Given the description of an element on the screen output the (x, y) to click on. 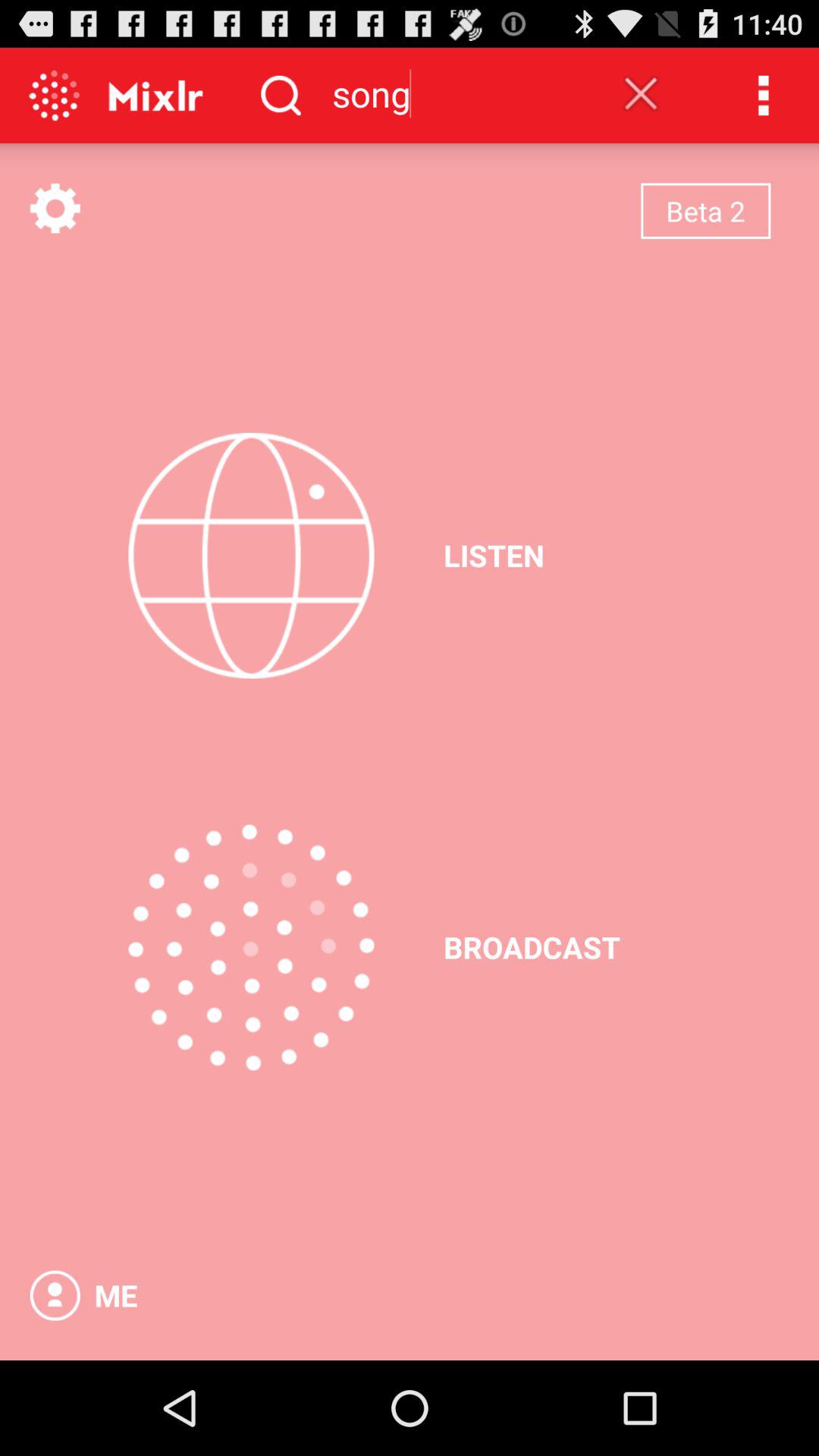
select broadcast (251, 947)
